Given the description of an element on the screen output the (x, y) to click on. 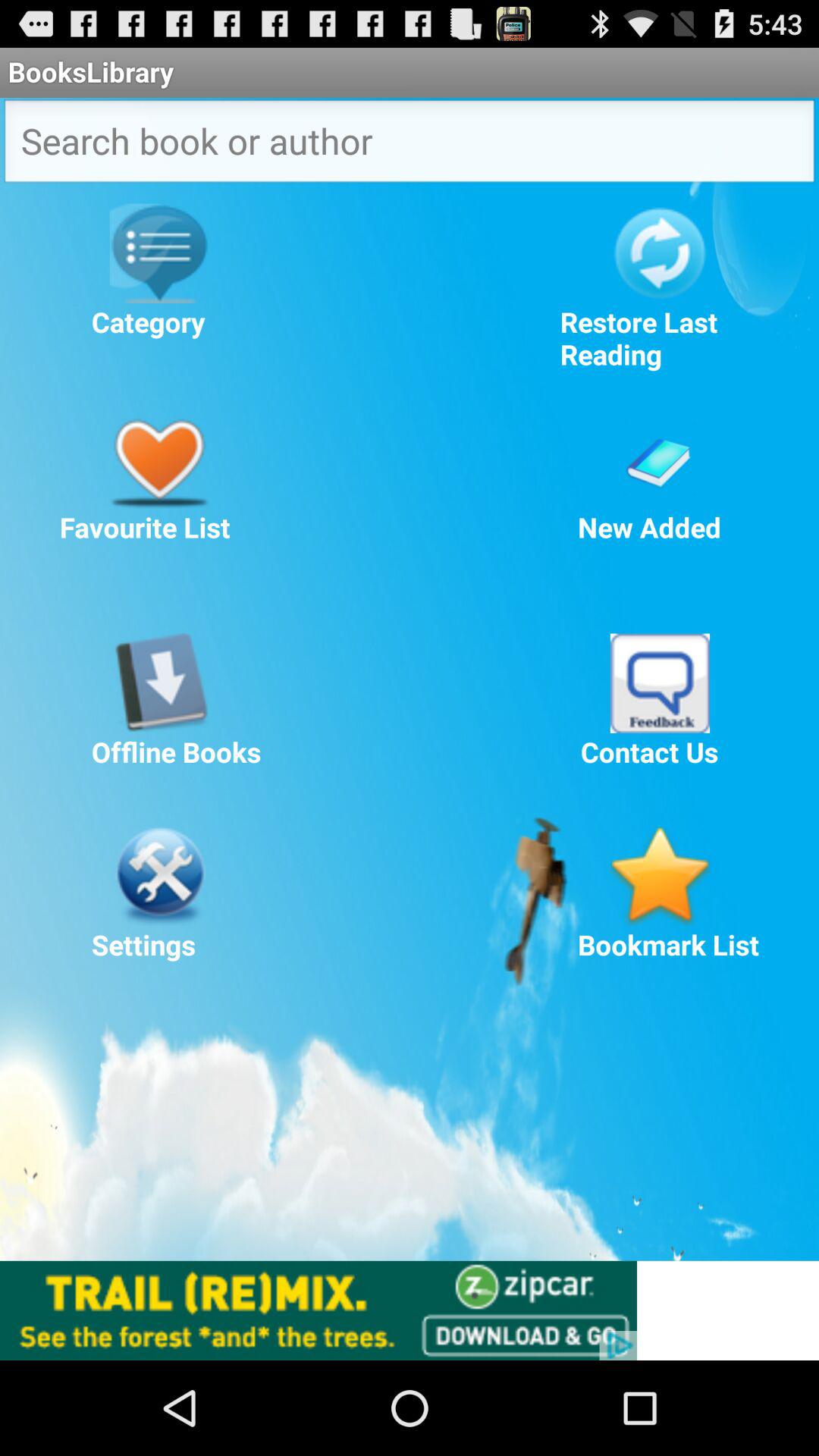
view downloaded books (158, 683)
